Given the description of an element on the screen output the (x, y) to click on. 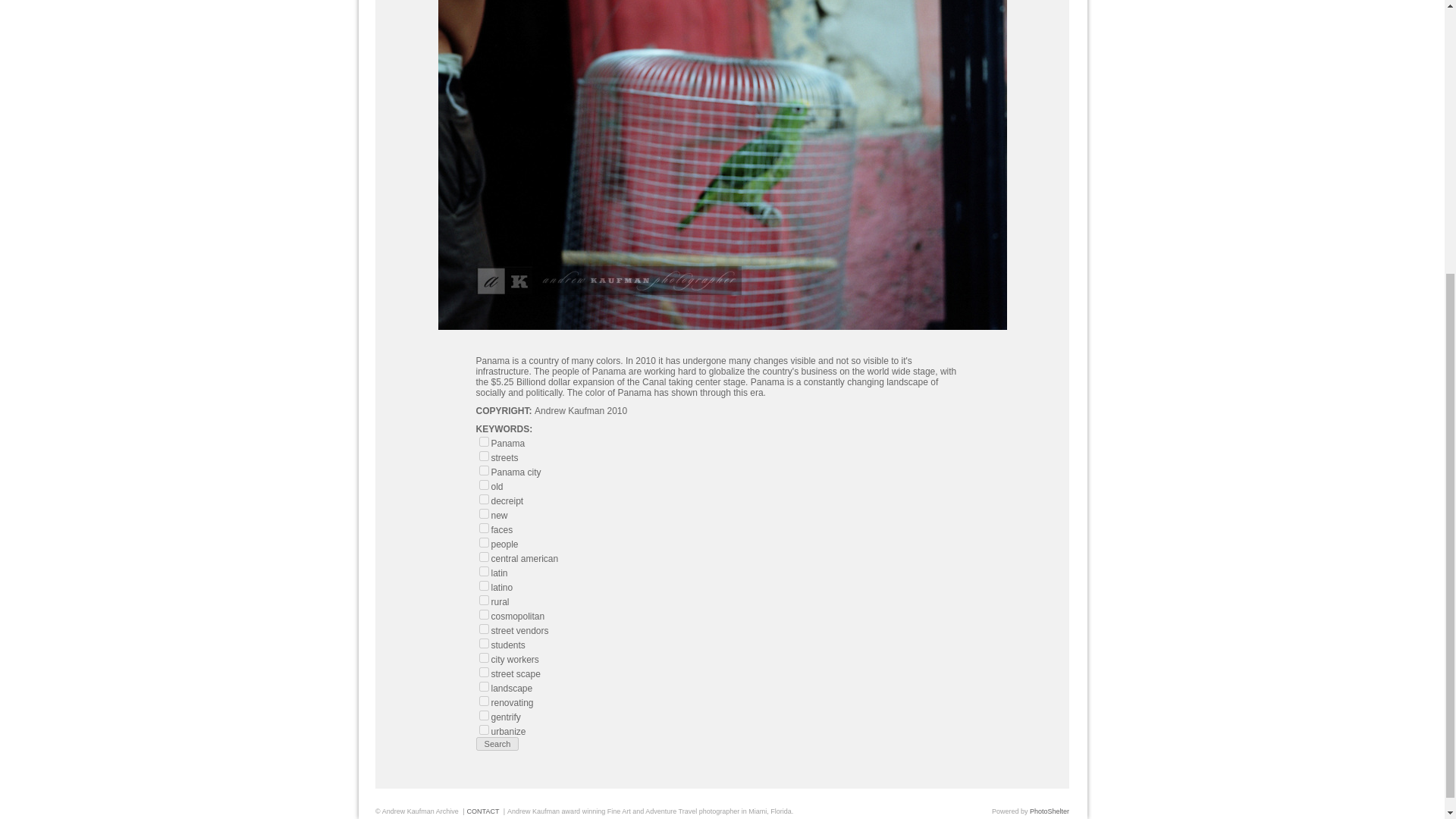
city workers (484, 657)
new (484, 513)
decreipt (484, 499)
latin (484, 571)
Panama city (484, 470)
people (484, 542)
renovating (484, 700)
rural (484, 600)
streets (484, 456)
CONTACT (483, 810)
street scape (484, 672)
central american (484, 556)
faces (484, 528)
PhotoShelter (1048, 810)
old (484, 484)
